Given the description of an element on the screen output the (x, y) to click on. 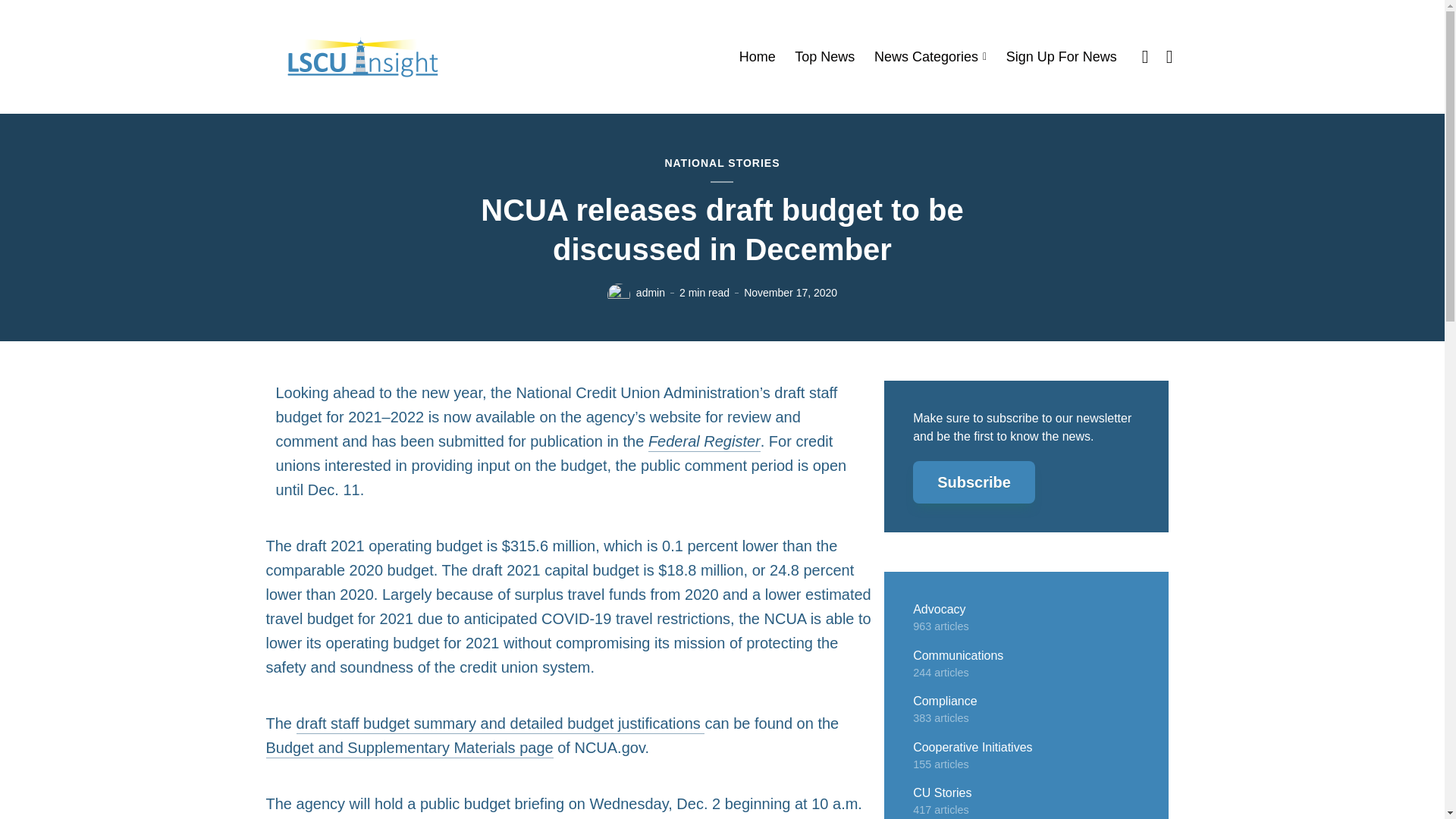
News Categories (931, 56)
admin (650, 292)
Top News (824, 56)
Sign Up For News (1061, 56)
Home (757, 56)
NATIONAL STORIES (720, 163)
